Given the description of an element on the screen output the (x, y) to click on. 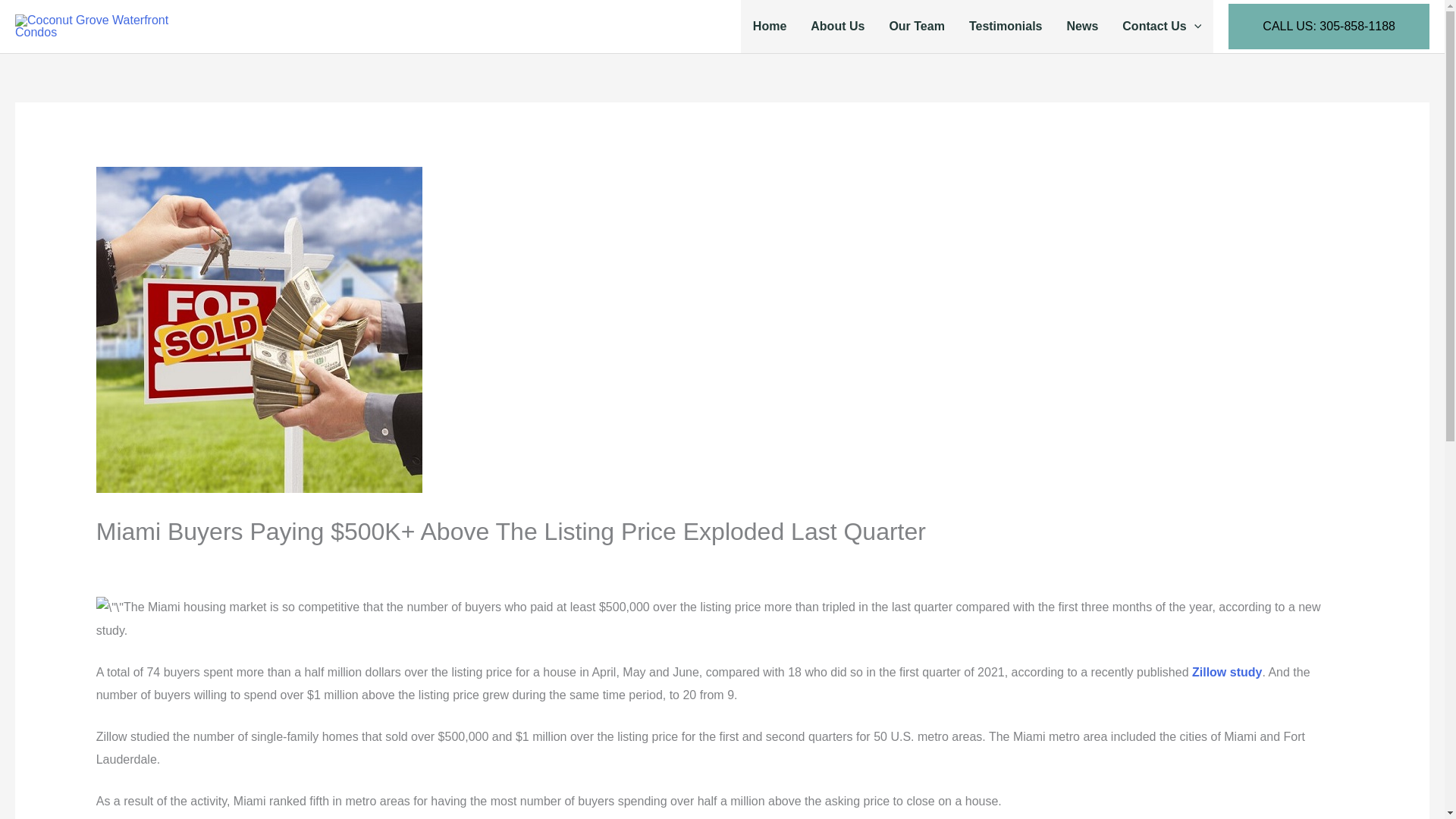
Testimonials (1005, 26)
Our Team (916, 26)
NEW RESIDENTIAL (437, 562)
Zillow study (1227, 671)
CALL US: 305-858-1188 (1328, 26)
INDUSTRY NEWS (243, 562)
News (1082, 26)
About Us (836, 26)
ADMIN (540, 562)
COMMERCIAL (143, 562)
